Given the description of an element on the screen output the (x, y) to click on. 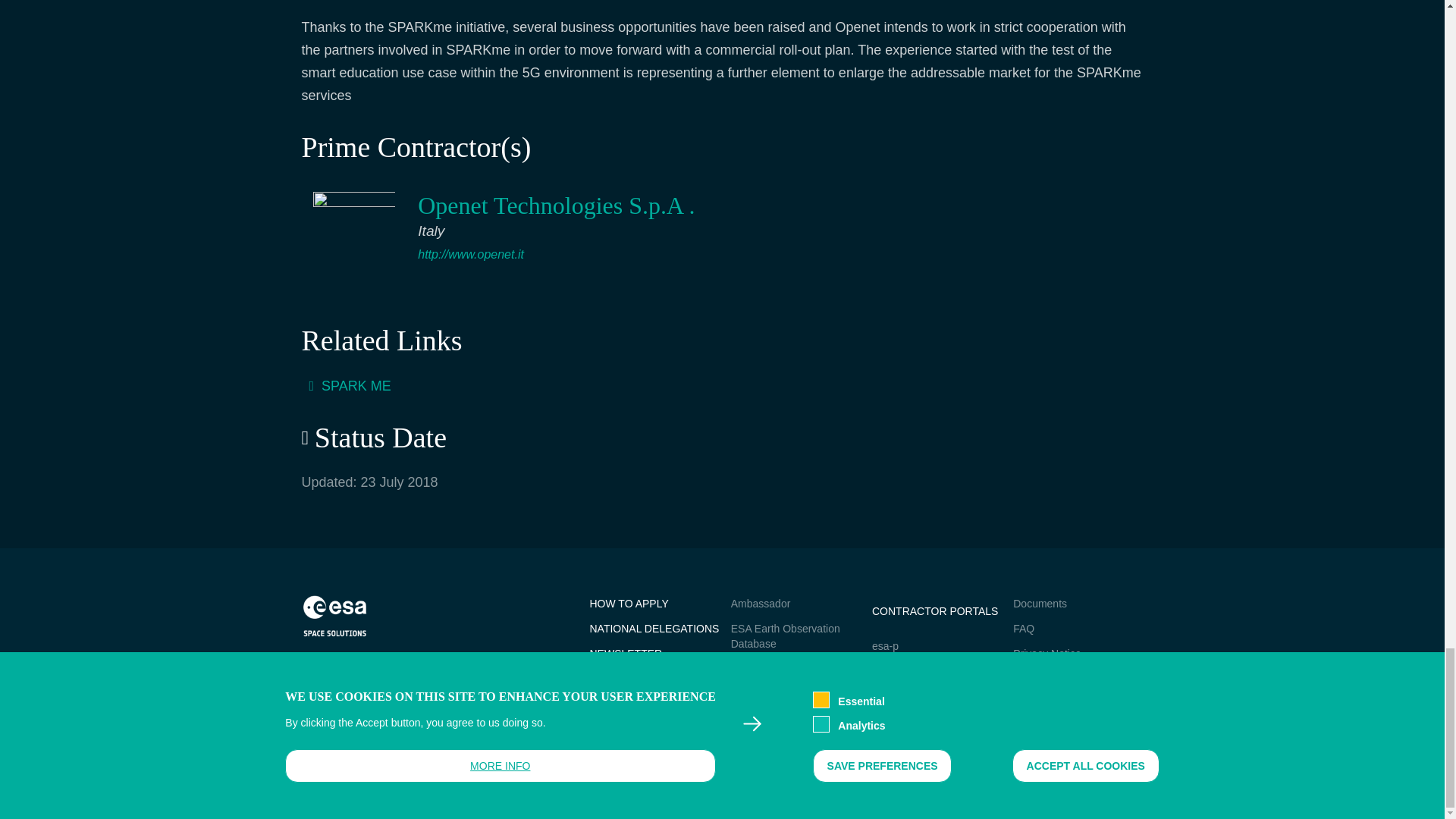
SPARK ME (356, 385)
ESA Earth Observation Database (785, 636)
HOW TO APPLY (628, 603)
Business Network (772, 758)
NATIONAL DELEGATIONS (654, 628)
Latest News (759, 733)
Staff Login (614, 678)
esa-p (885, 645)
NEWSLETTER (625, 653)
EO Data Access (769, 708)
Newcomer's Earth Observation Guide (774, 676)
Openet Technologies S.p.A . (555, 205)
Ambassador (760, 603)
